Given the description of an element on the screen output the (x, y) to click on. 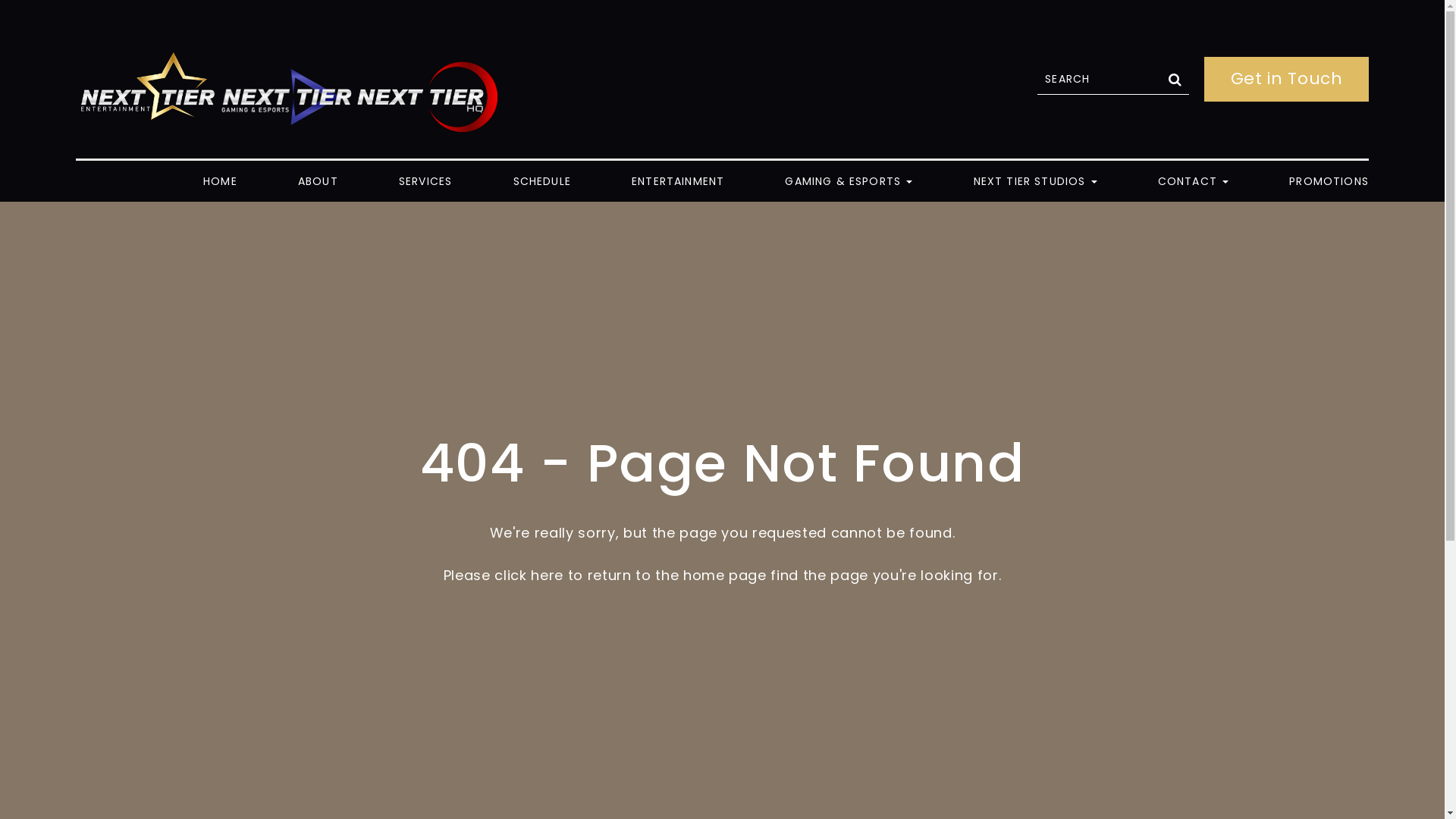
CONTACT Element type: text (1210, 180)
ABOUT Element type: text (334, 180)
ENTERTAINMENT Element type: text (694, 180)
SERVICES Element type: text (442, 180)
SCHEDULE Element type: text (559, 180)
PROMOTIONS Element type: text (1322, 180)
GAMING & ESPORTS Element type: text (865, 180)
click here Element type: text (528, 574)
Get in Touch Element type: text (1286, 78)
NEXT TIER STUDIOS Element type: text (1052, 180)
HOME Element type: text (242, 180)
